Given the description of an element on the screen output the (x, y) to click on. 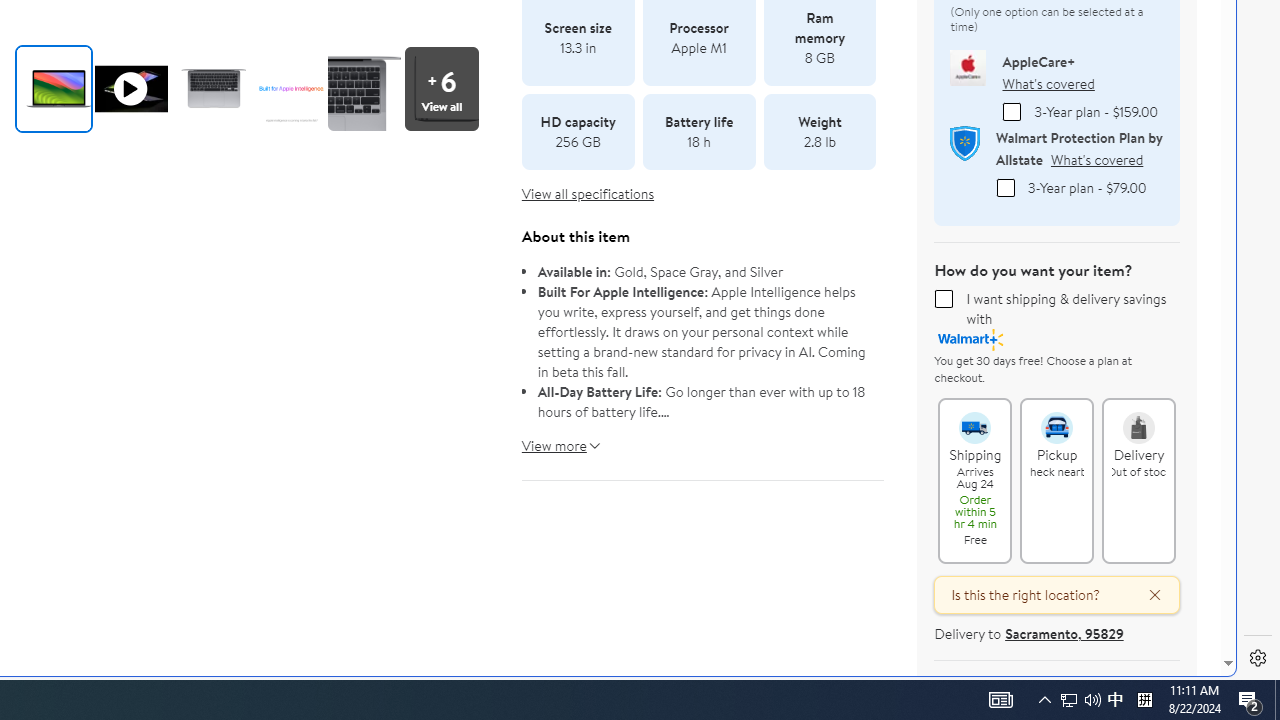
View all specifications (587, 193)
